Given the description of an element on the screen output the (x, y) to click on. 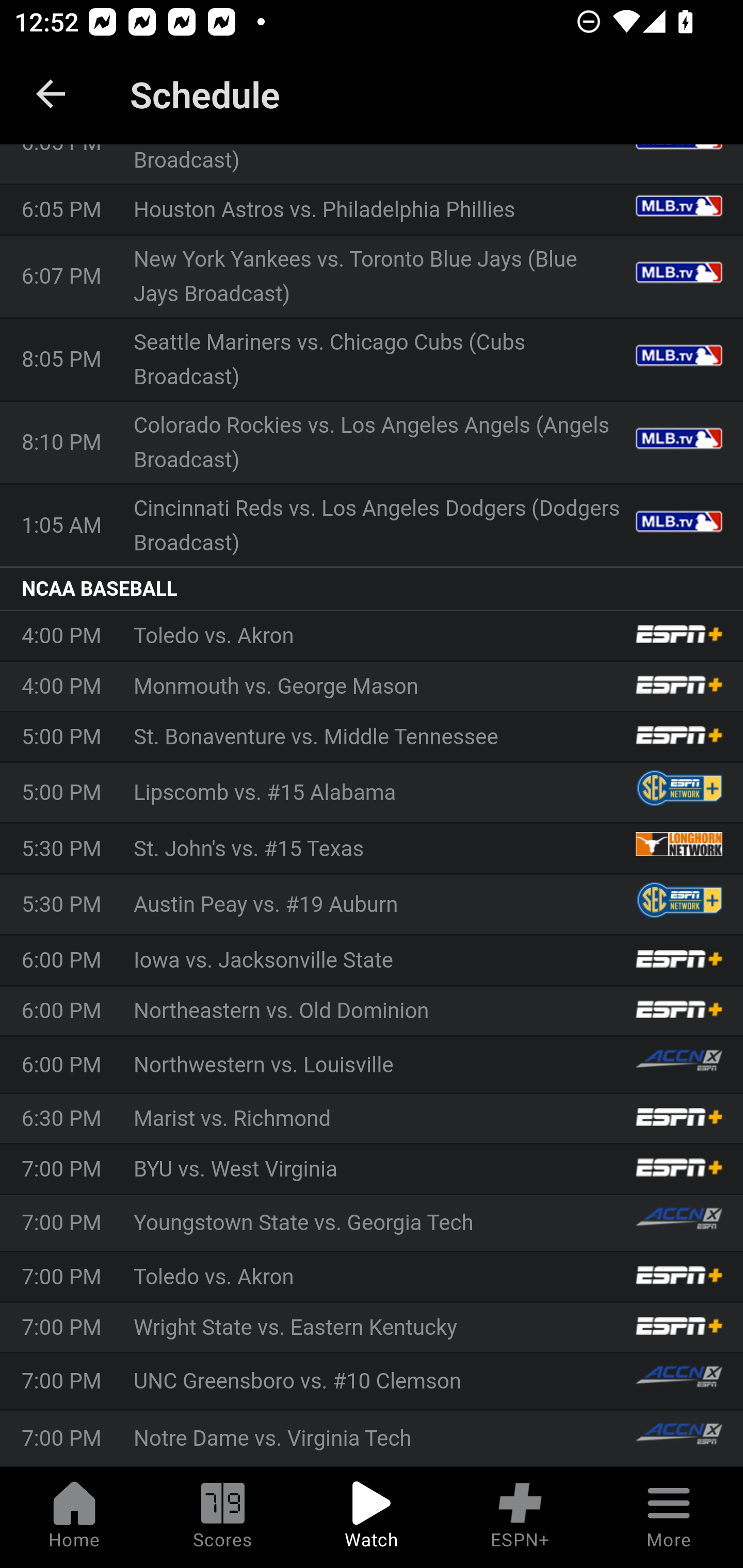
back.button (50, 93)
Home (74, 1517)
Scores (222, 1517)
ESPN+ (519, 1517)
More (668, 1517)
